Given the description of an element on the screen output the (x, y) to click on. 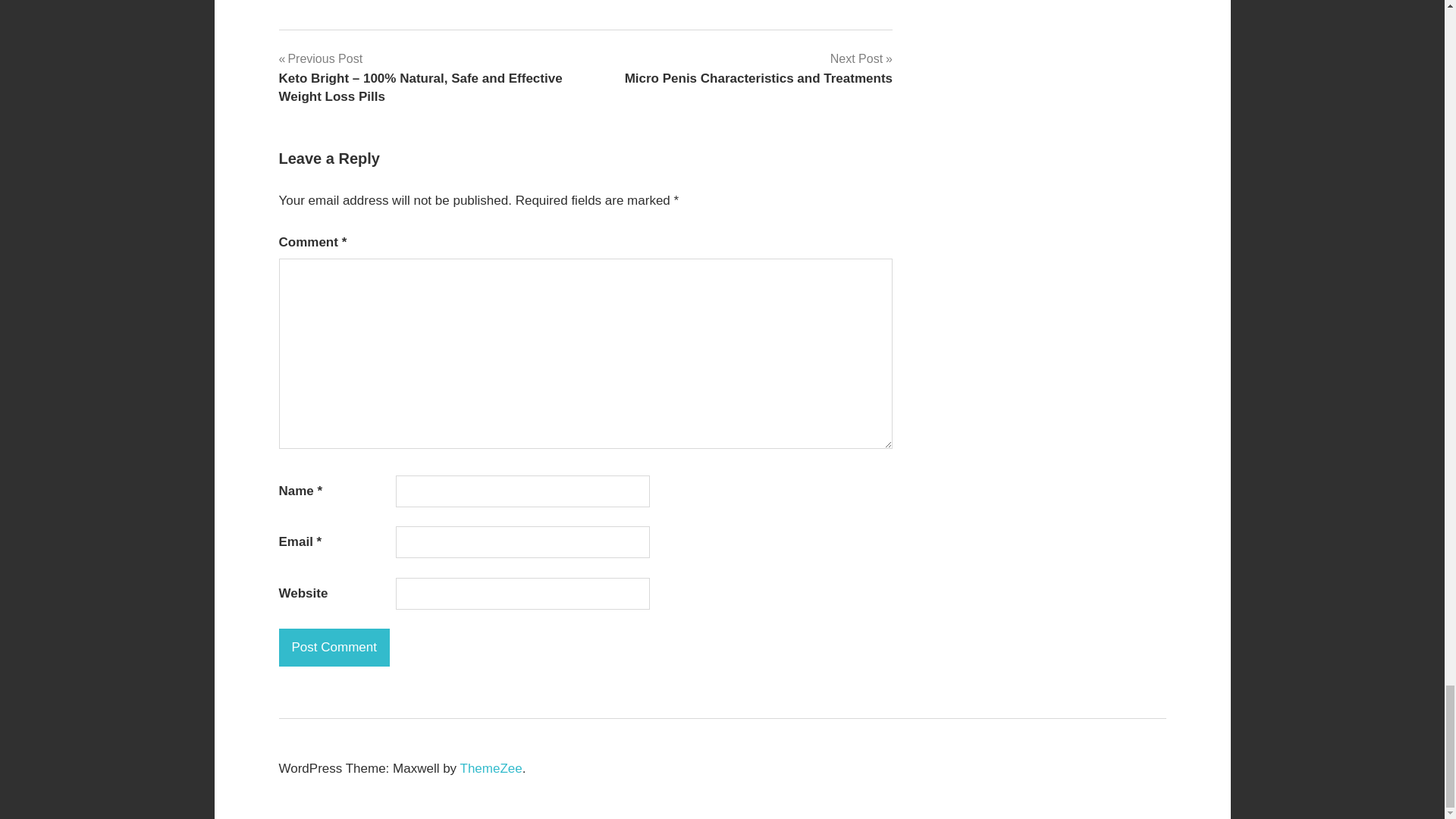
ThemeZee (491, 768)
Post Comment (334, 647)
Post Comment (758, 67)
